Given the description of an element on the screen output the (x, y) to click on. 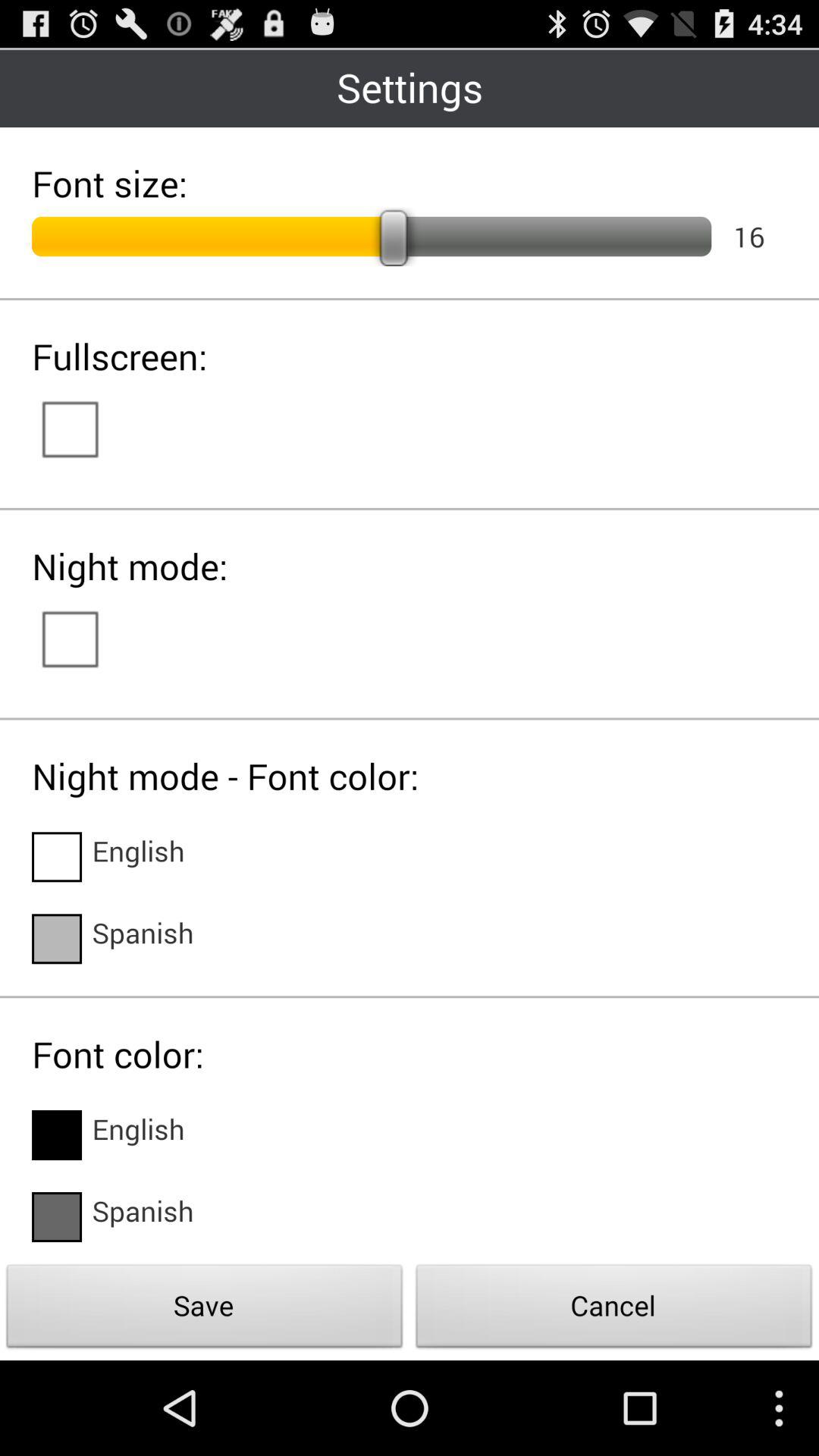
click on spanish (143, 1216)
select the square box to the left of spanish text below night modefont color text (56, 938)
select the check box with english (56, 856)
go to check box beside english in font color (56, 1134)
